Given the description of an element on the screen output the (x, y) to click on. 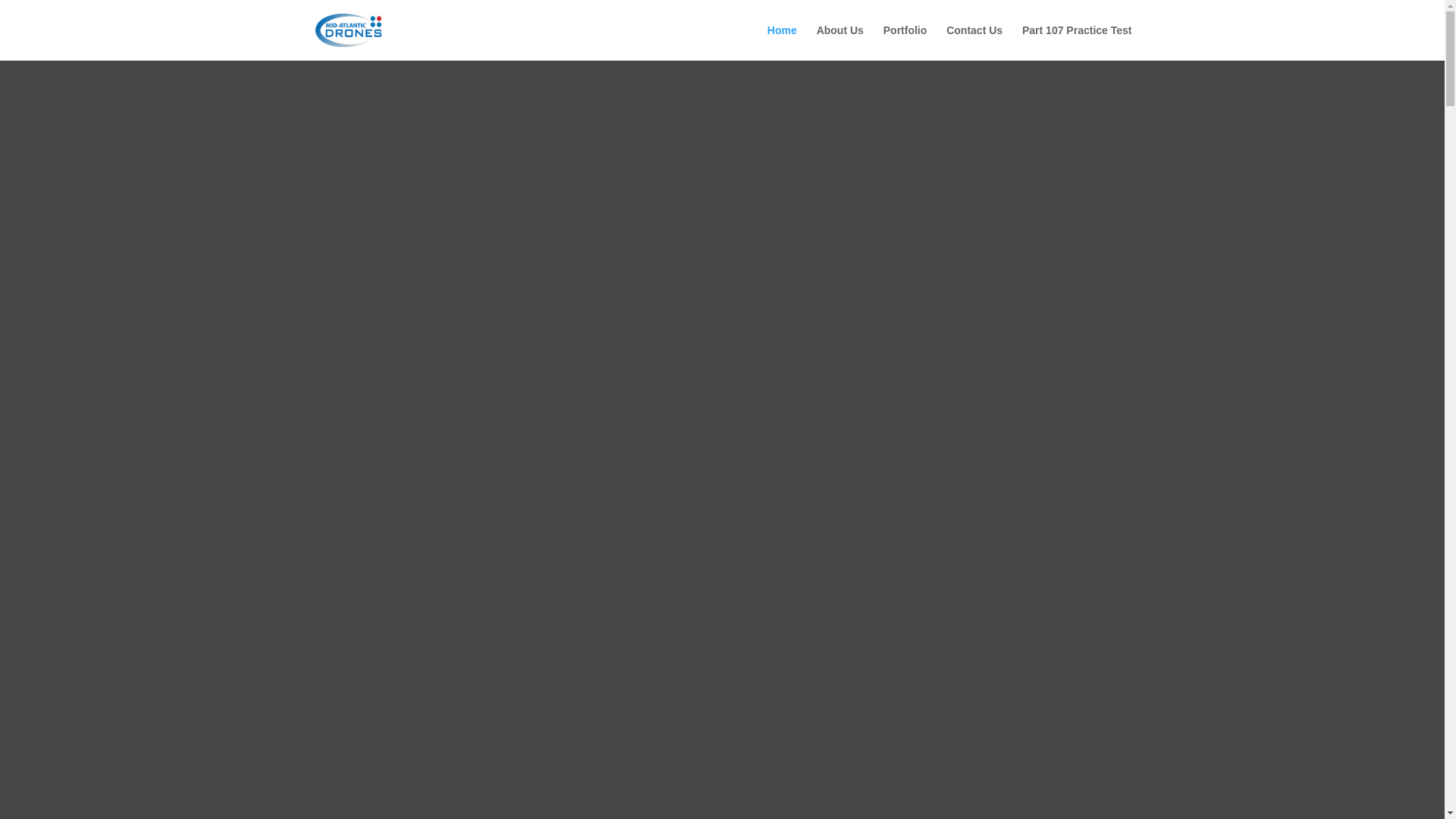
Portfolio (905, 42)
About Us (839, 42)
Contact Us (974, 42)
Part 107 Practice Test (1077, 42)
